Given the description of an element on the screen output the (x, y) to click on. 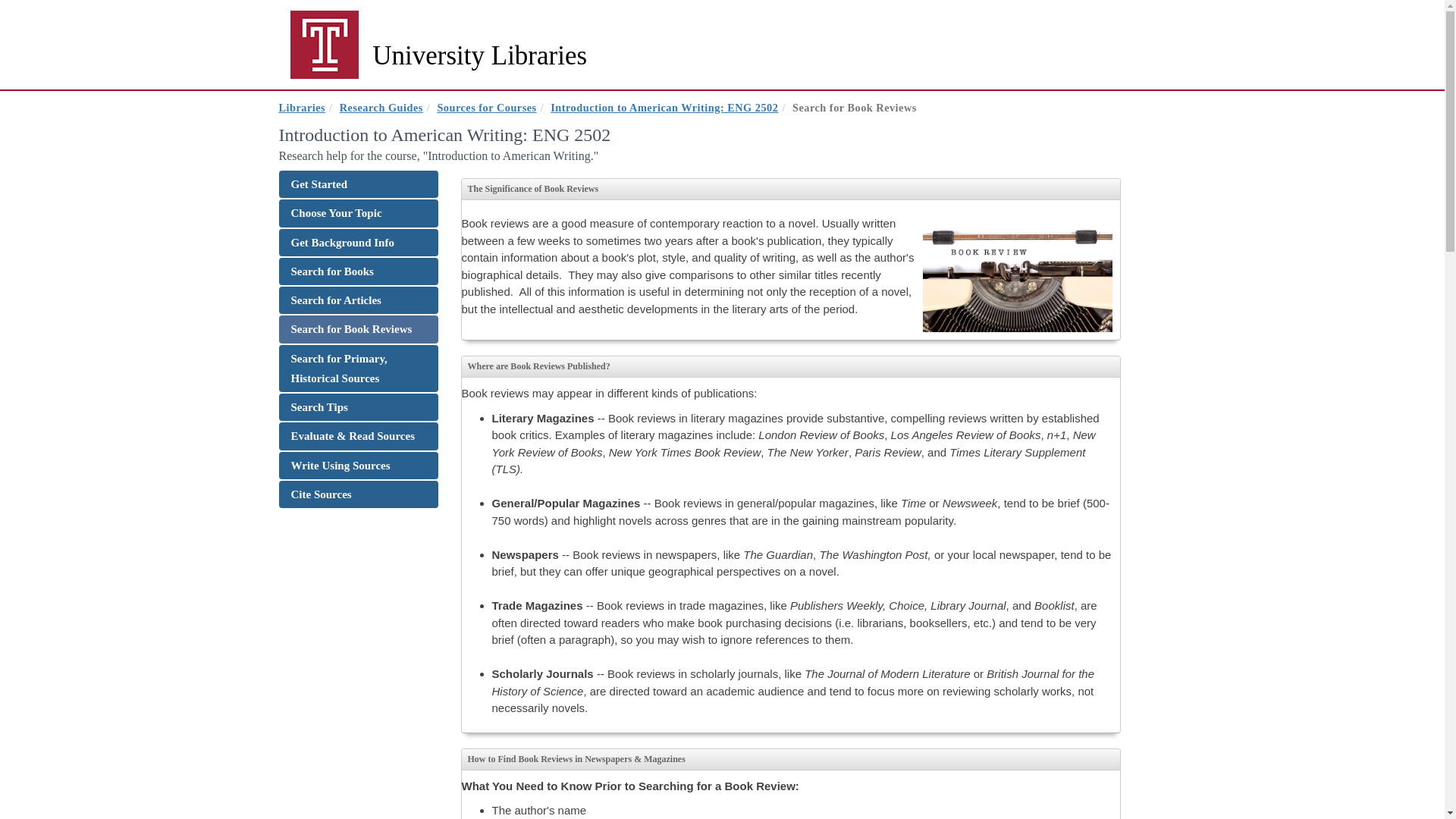
University Libraries (437, 55)
Search for Books (358, 271)
Sources for Courses (485, 107)
Search Tips (358, 406)
Get Background Info (358, 242)
Libraries (302, 107)
Introduction to American Writing: ENG 2502 (663, 107)
Choose Your Topic (358, 212)
Get Started (358, 184)
Search for Articles (358, 299)
